Given the description of an element on the screen output the (x, y) to click on. 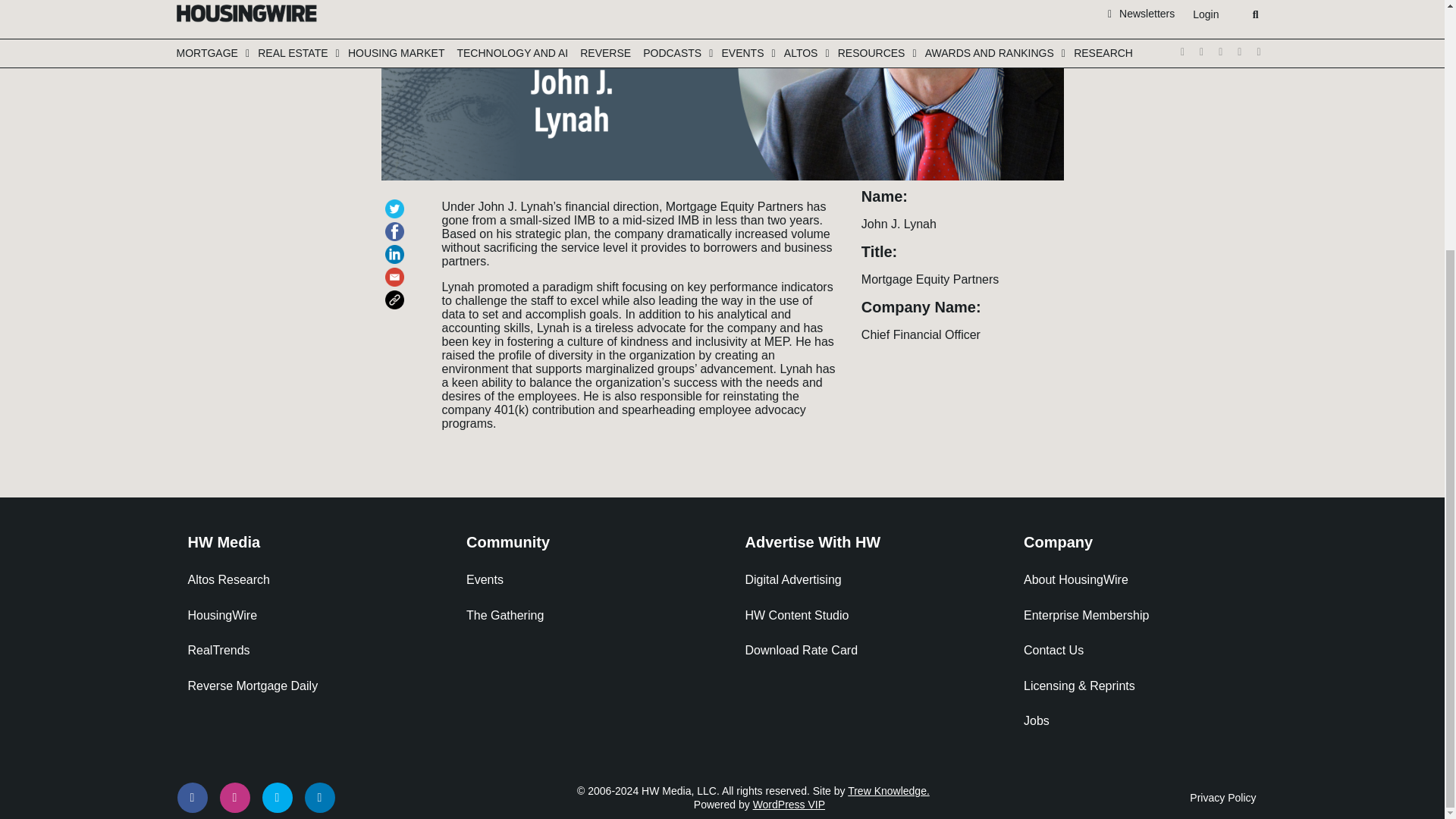
Click to copy link (398, 292)
Click to share on Facebook (398, 224)
Click to email a link to a friend (398, 269)
Click to share on LinkedIn (398, 247)
Click to share on Twitter (398, 201)
